Given the description of an element on the screen output the (x, y) to click on. 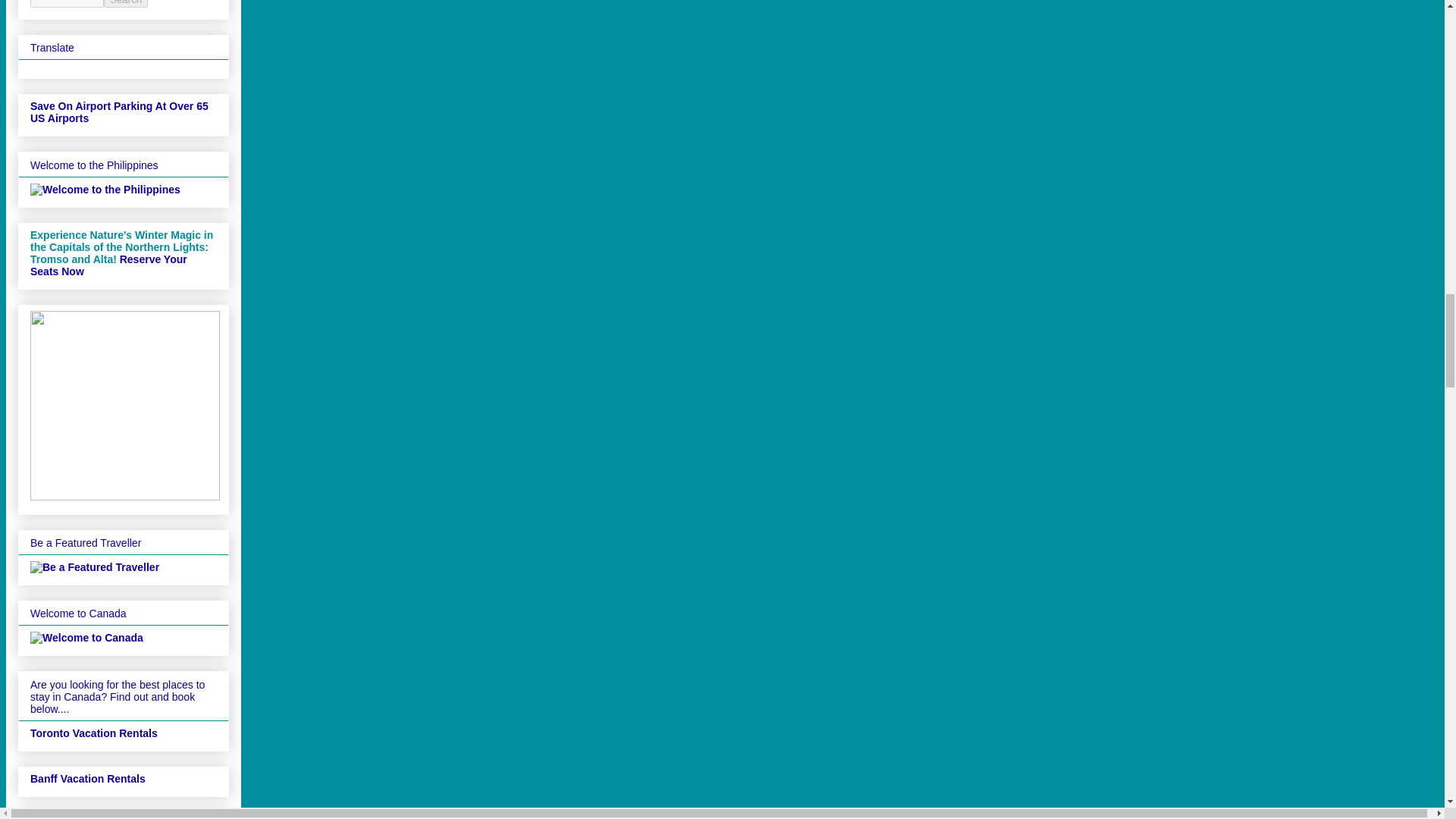
Search (125, 3)
Search (125, 3)
search (66, 3)
search (125, 3)
